Given the description of an element on the screen output the (x, y) to click on. 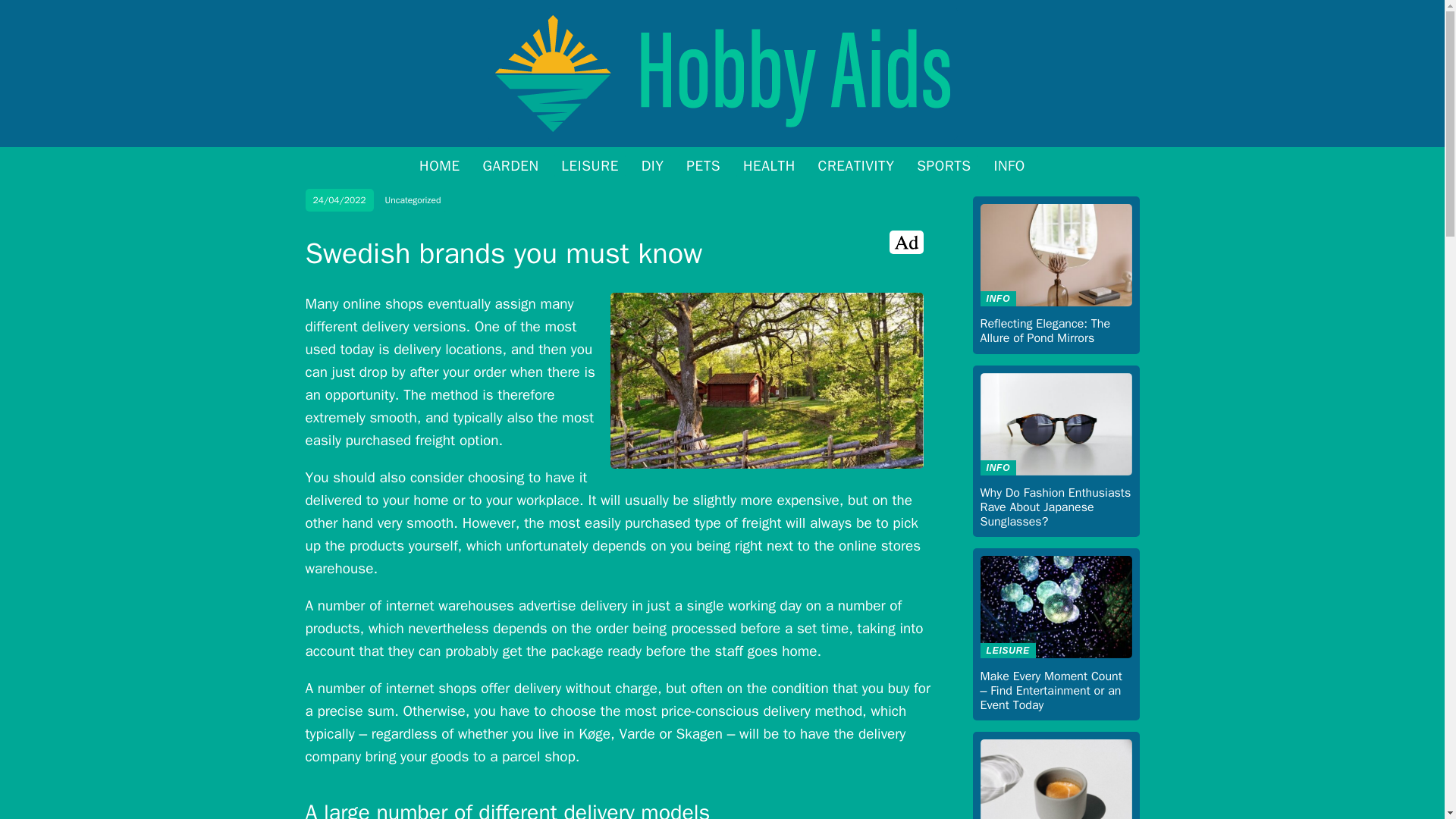
HOME (439, 166)
DIY (652, 166)
HEALTH (768, 166)
INFO (1008, 166)
SPORTS (944, 166)
LEISURE (589, 166)
GARDEN (509, 166)
PETS (702, 166)
CREATIVITY (856, 166)
